Given the description of an element on the screen output the (x, y) to click on. 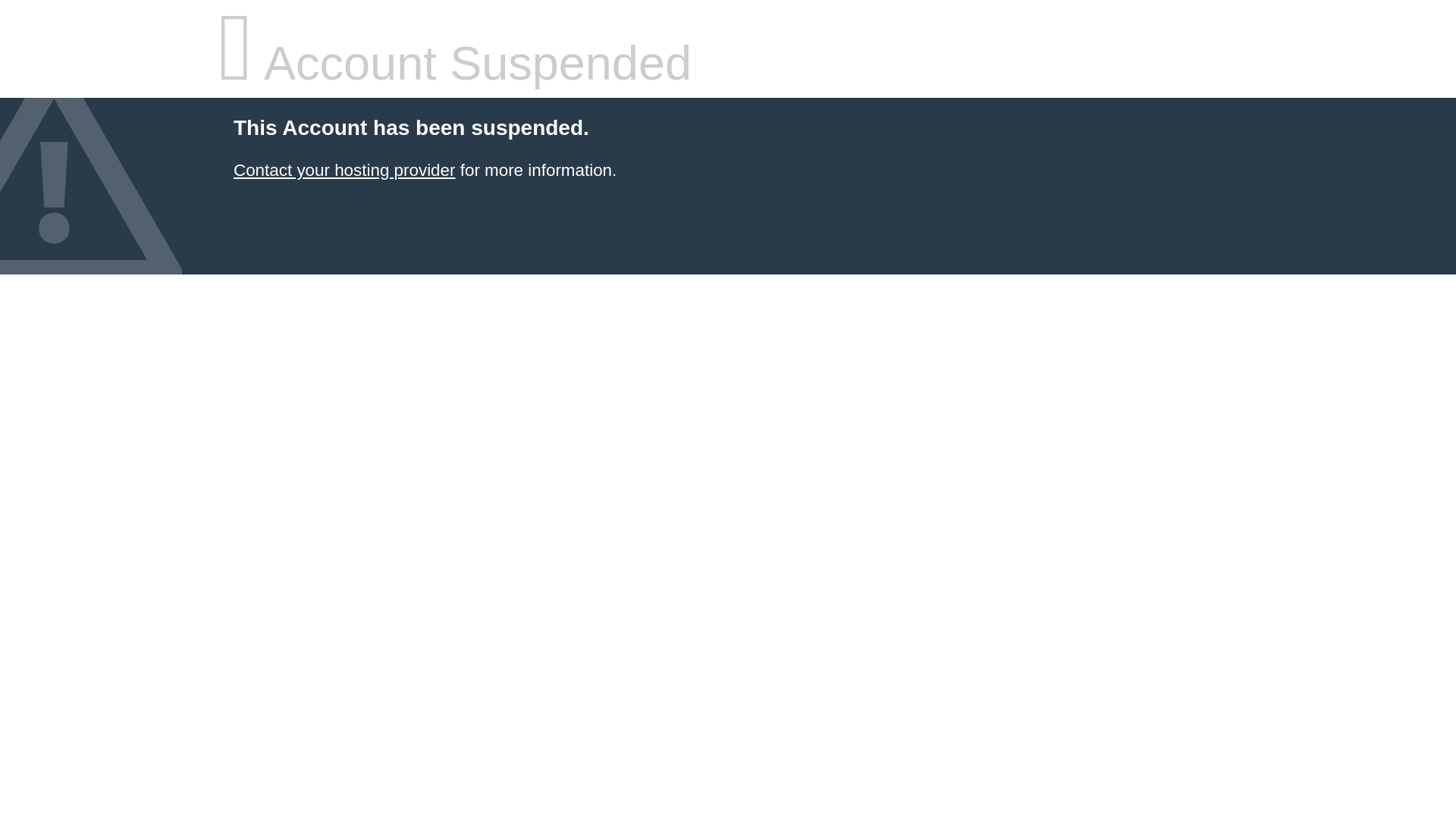
Contact your hosting provider (343, 169)
